Given the description of an element on the screen output the (x, y) to click on. 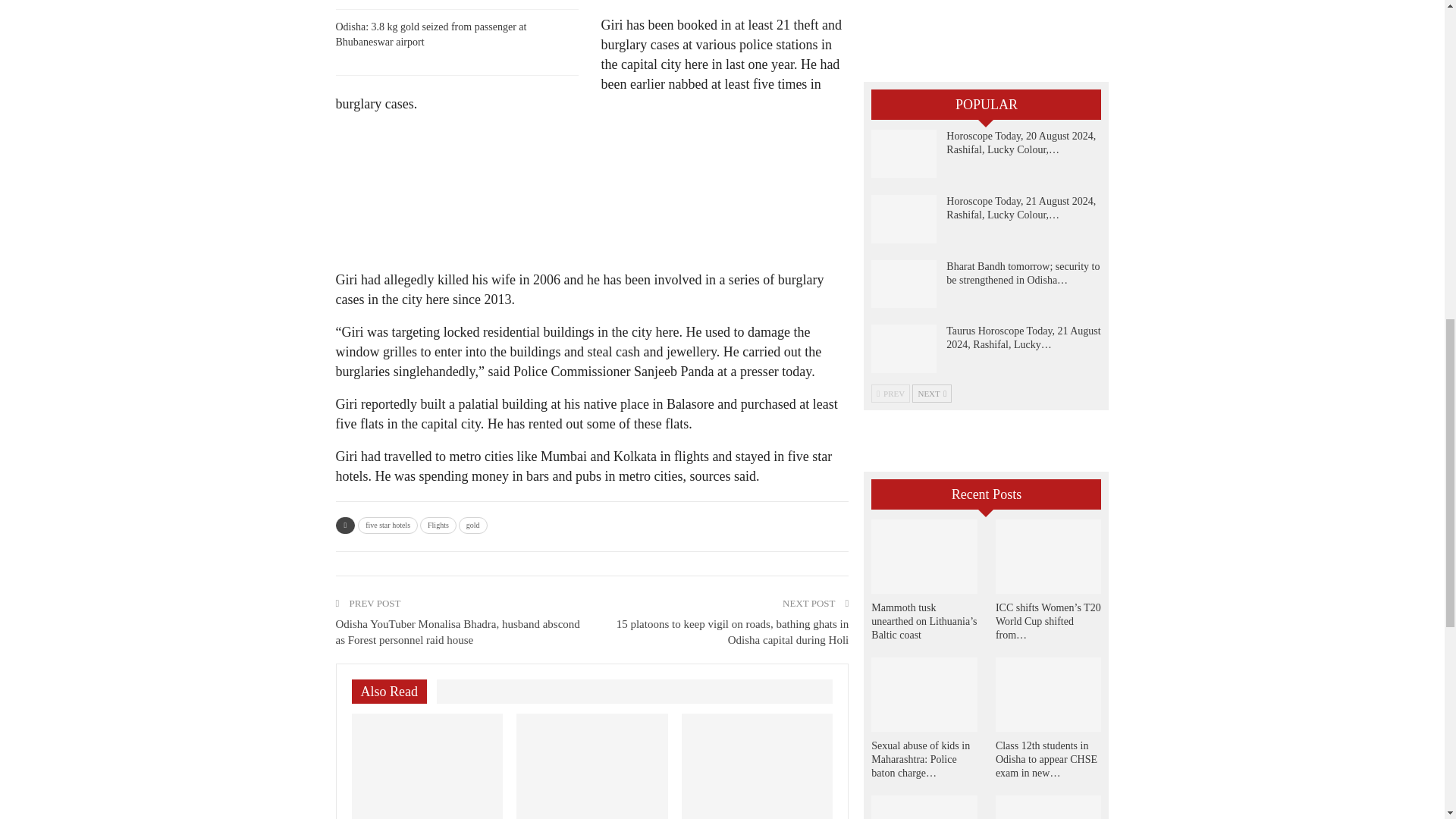
Lightning strike at Dhauli peace pagoda causes damage (592, 766)
